Given the description of an element on the screen output the (x, y) to click on. 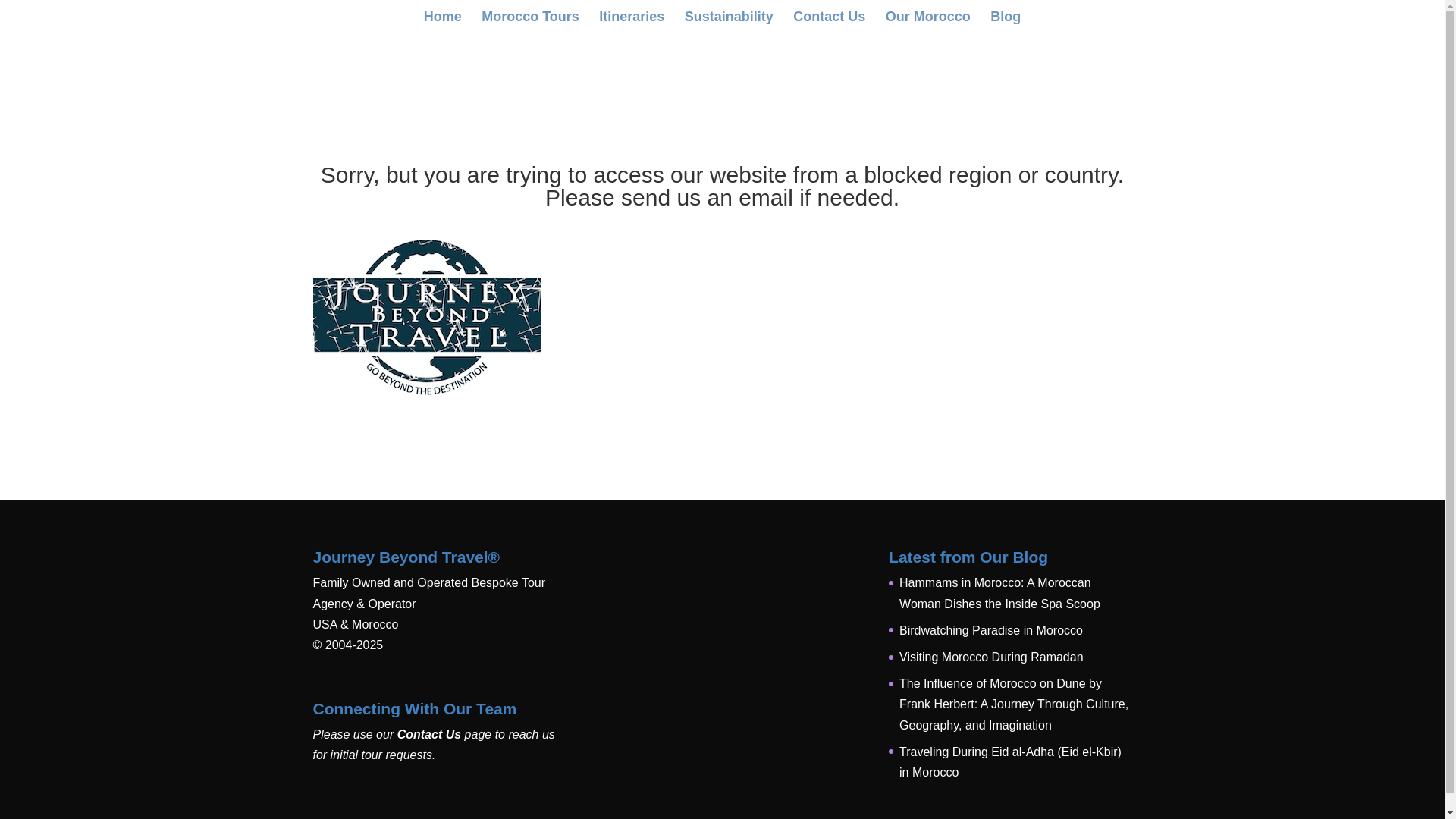
Contact Us (429, 734)
Itineraries (630, 22)
Our Morocco (928, 22)
Home (442, 22)
Birdwatching Paradise in Morocco (991, 630)
Morocco Tours (530, 22)
Blog (1005, 22)
Contact Us (828, 22)
Sustainability (728, 22)
Visiting Morocco During Ramadan (991, 656)
